Given the description of an element on the screen output the (x, y) to click on. 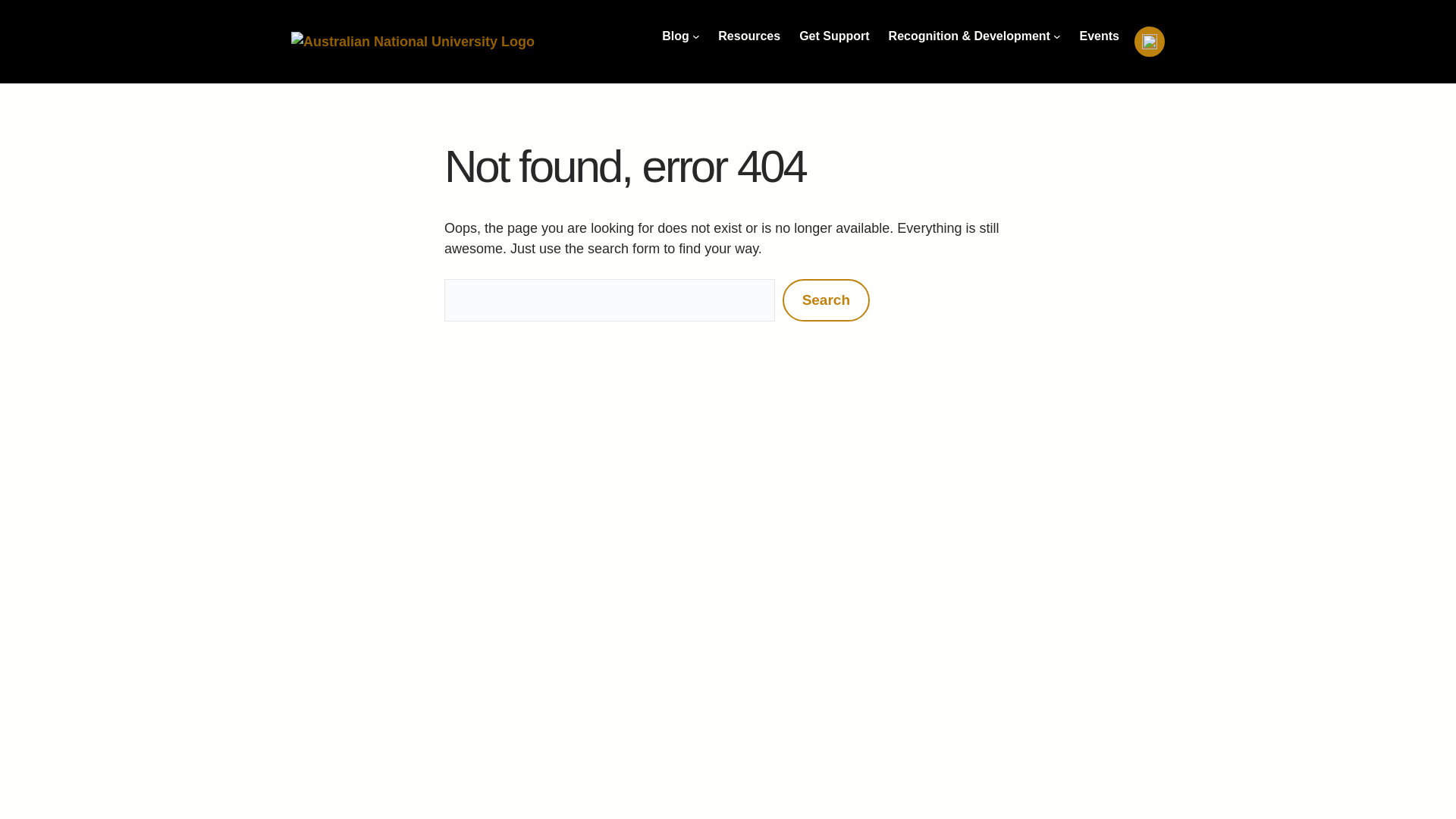
Events (1099, 36)
Resources (748, 36)
Get Support (834, 36)
Search (826, 300)
